Given the description of an element on the screen output the (x, y) to click on. 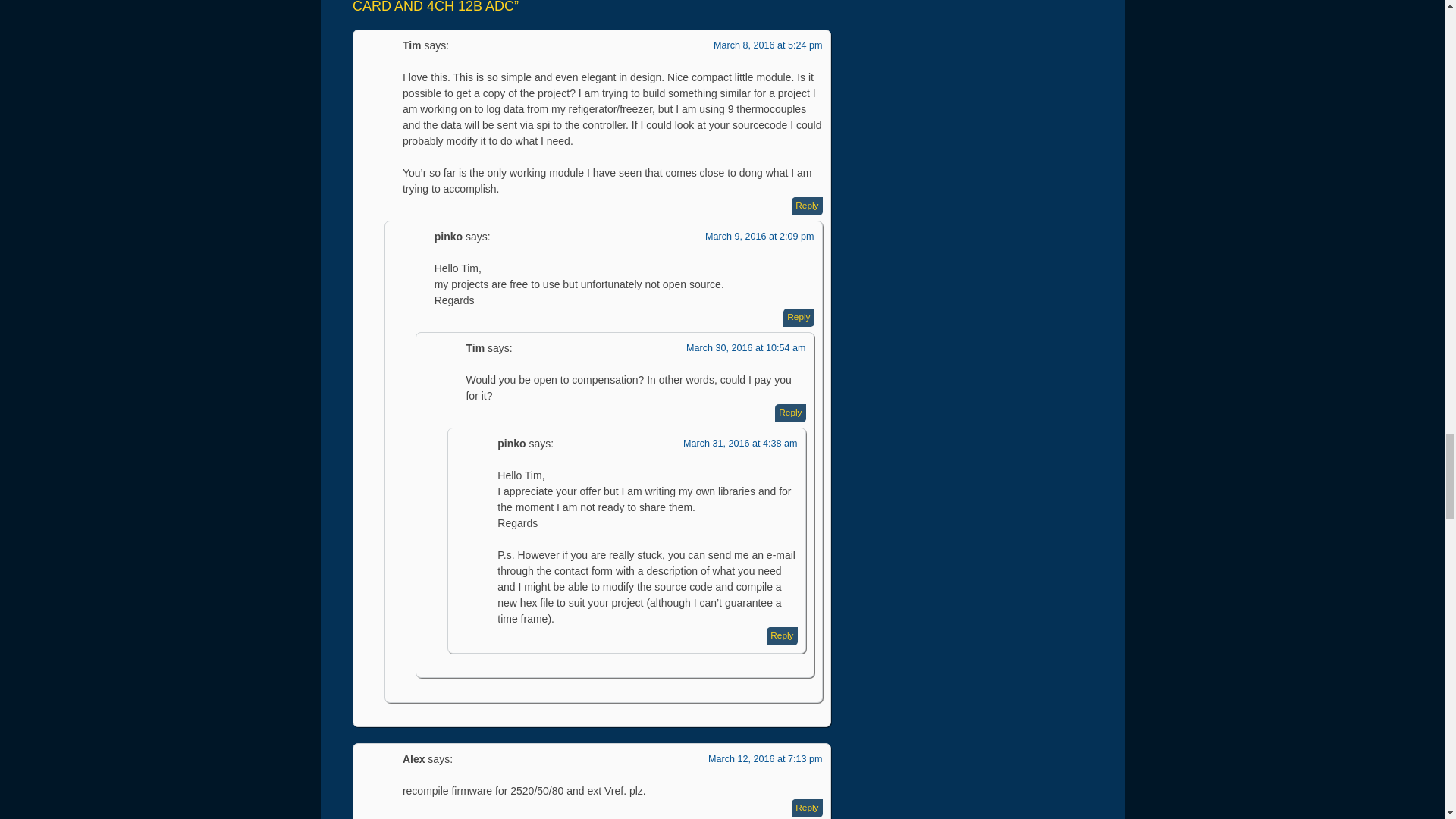
March 8, 2016 at 5:24 pm (767, 45)
Reply (807, 206)
Reply (781, 636)
March 12, 2016 at 7:13 pm (764, 758)
March 31, 2016 at 4:38 am (739, 443)
Reply (789, 413)
Reply (798, 317)
March 9, 2016 at 2:09 pm (758, 235)
Reply (807, 808)
March 30, 2016 at 10:54 am (745, 347)
